Given the description of an element on the screen output the (x, y) to click on. 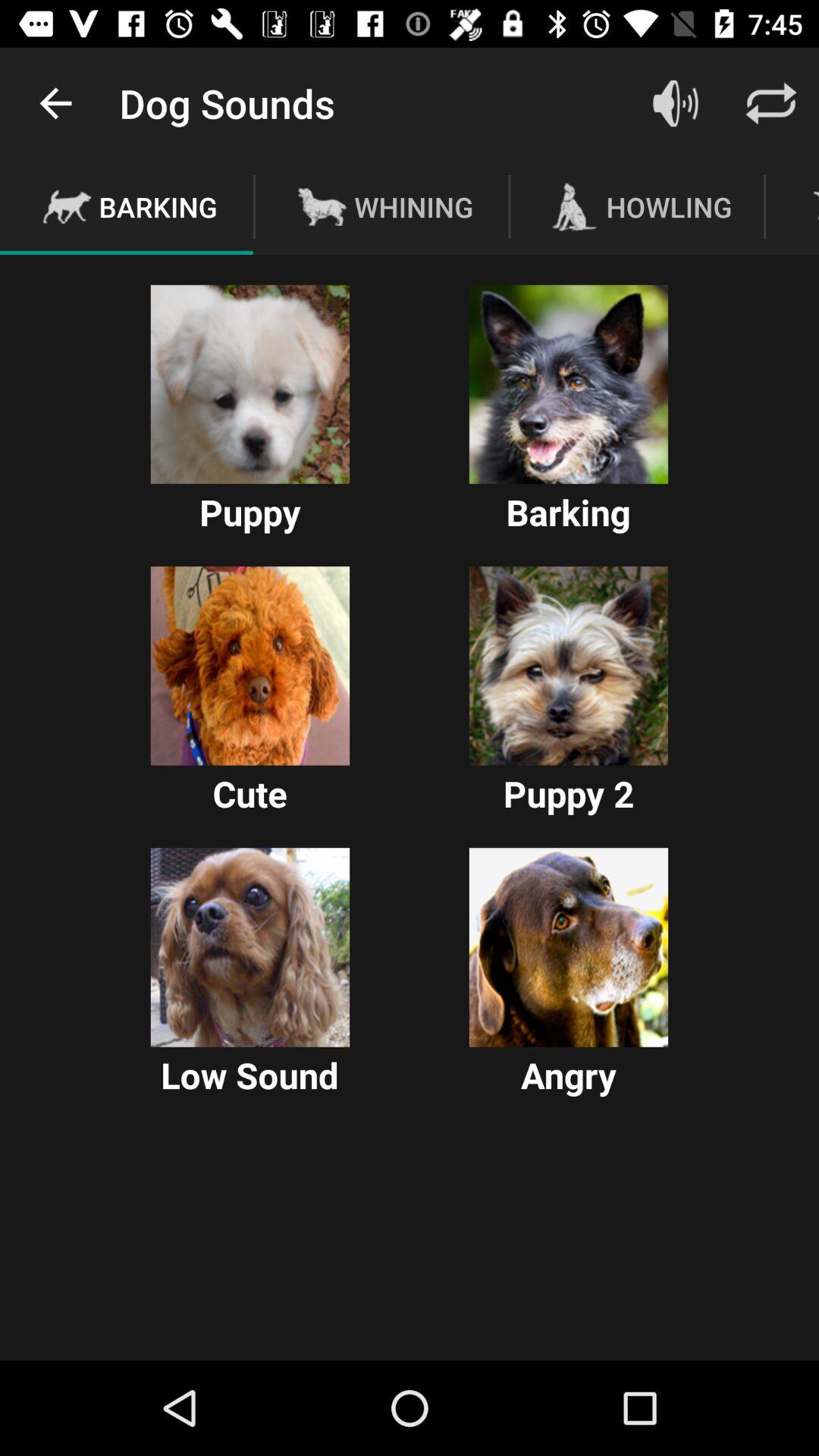
toggle sound option (675, 103)
